Given the description of an element on the screen output the (x, y) to click on. 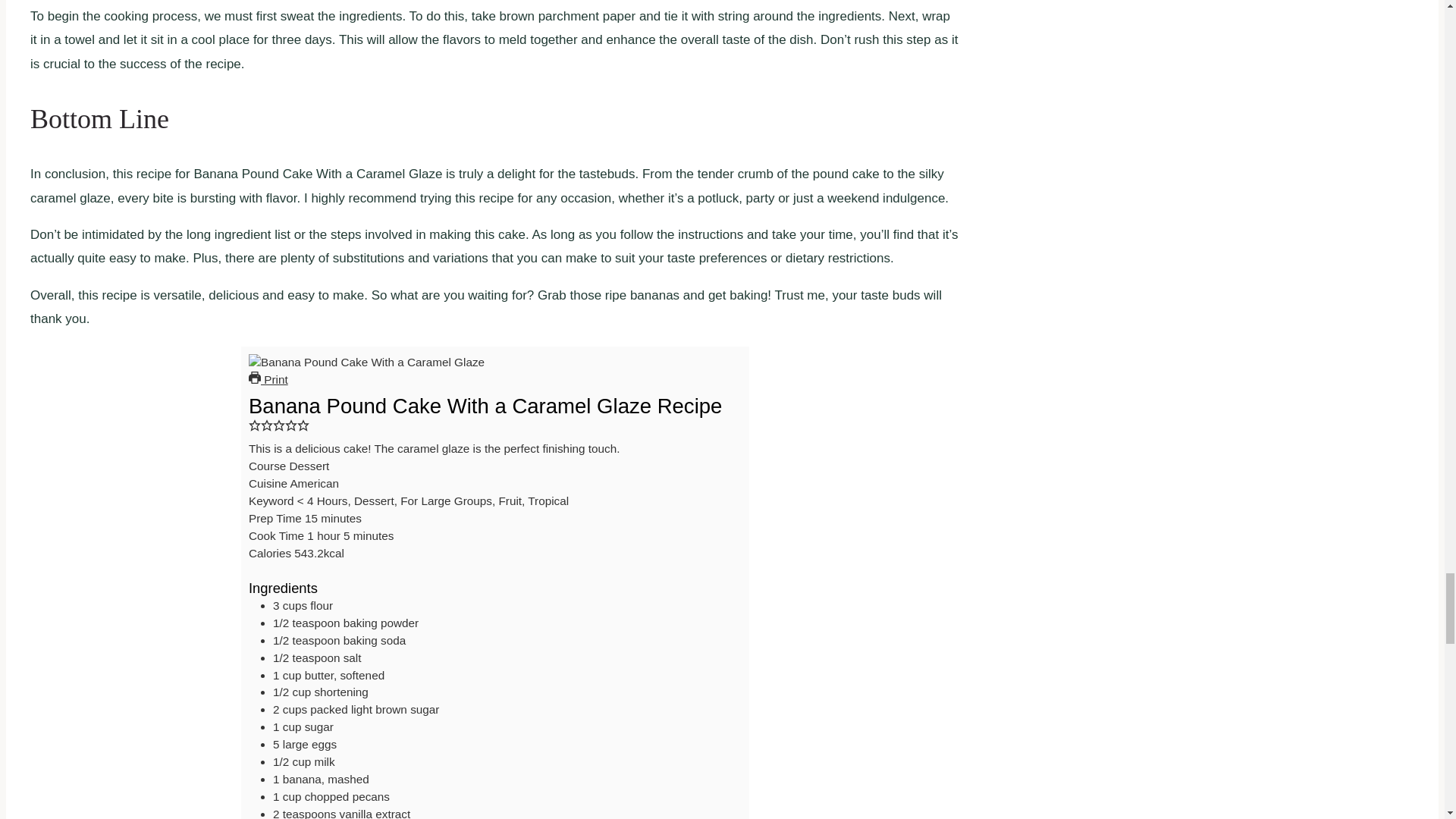
Print (268, 379)
